Given the description of an element on the screen output the (x, y) to click on. 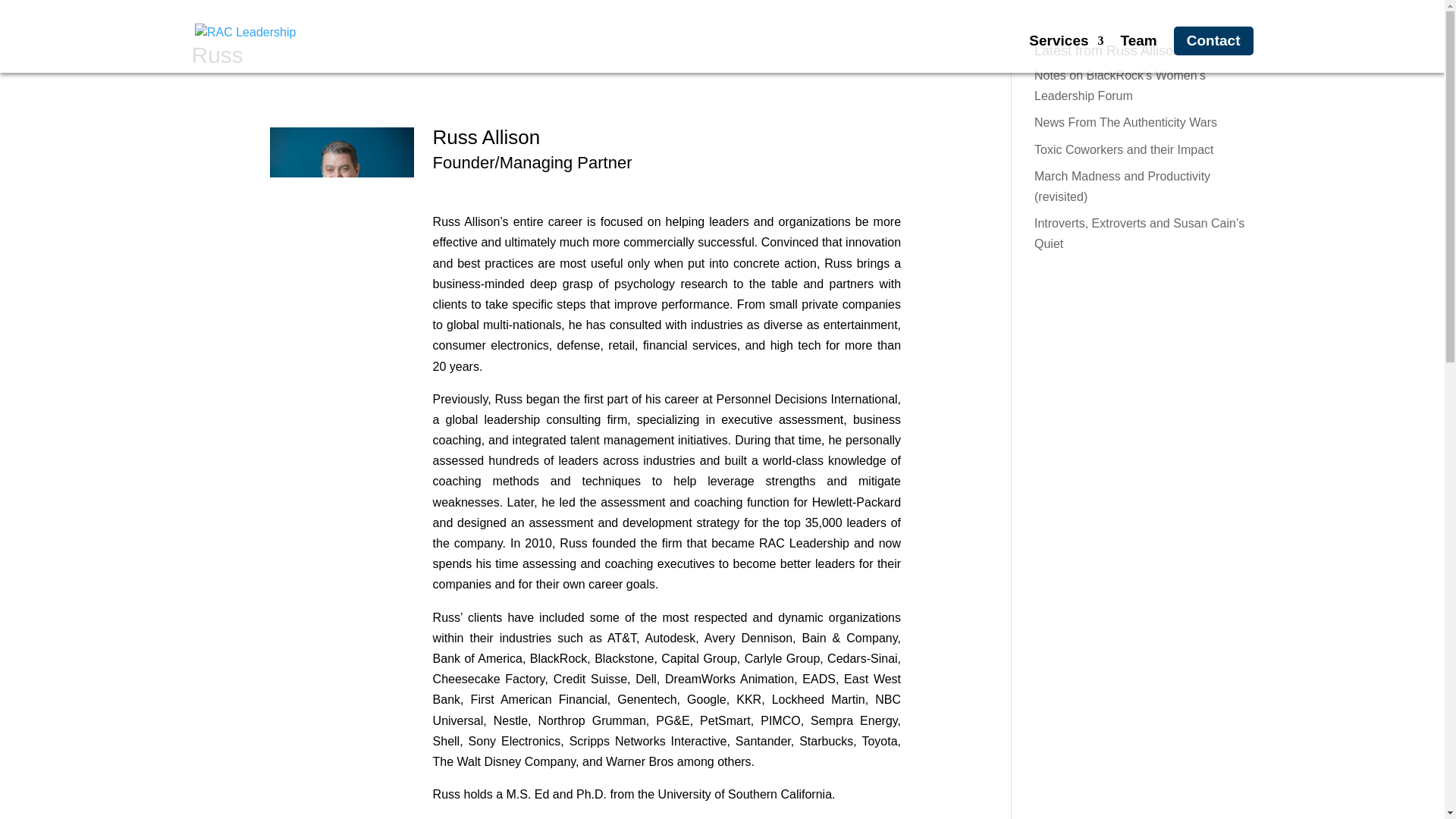
Services (1066, 54)
Russ Allison-2 (341, 205)
Team (1139, 54)
News From The Authenticity Wars (1125, 122)
Contact (1213, 40)
Toxic Coworkers and their Impact (1123, 149)
